Given the description of an element on the screen output the (x, y) to click on. 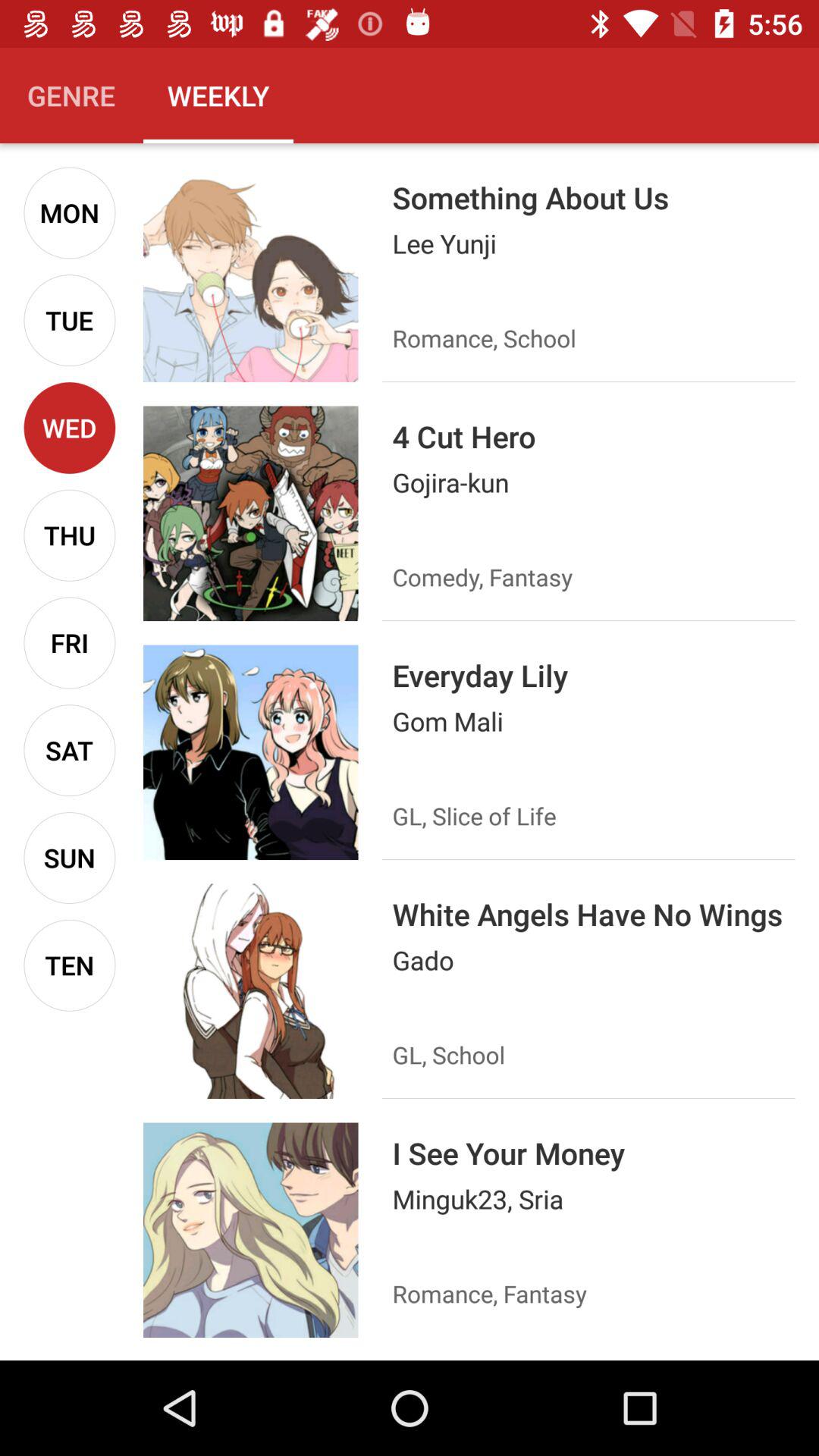
turn on the icon above wed item (69, 320)
